Given the description of an element on the screen output the (x, y) to click on. 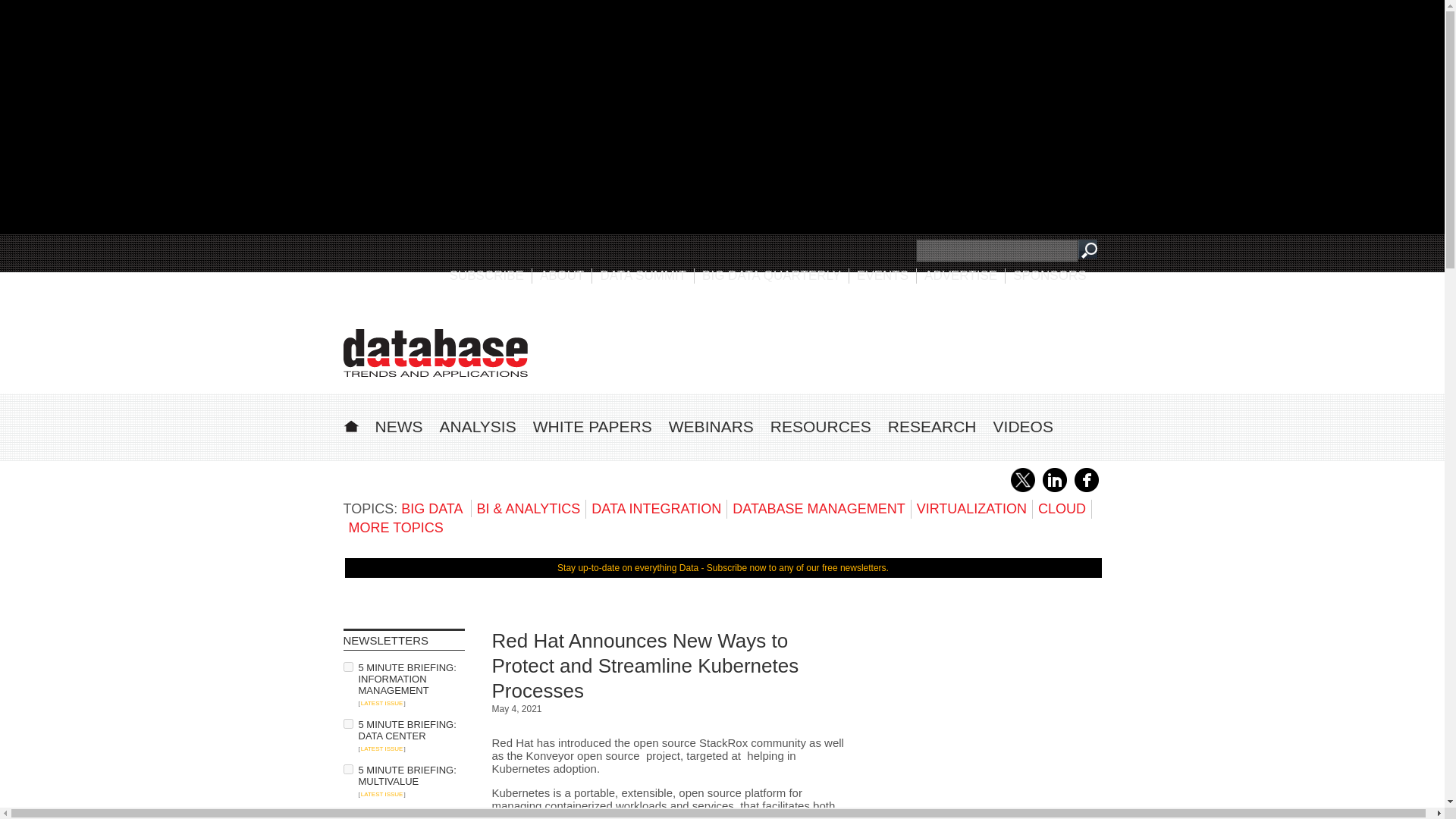
DBTA on LinkedIn (1053, 489)
ADVERTISE (960, 275)
3rd party ad content (986, 723)
Database Trends and Applications Home (350, 424)
WHITE PAPERS (592, 425)
DBTA on Facebook (1085, 489)
BIG DATA QUARTERLY (771, 275)
on (347, 814)
ANALYSIS (477, 425)
on (347, 768)
RESOURCES (820, 425)
DATA SUMMIT (642, 275)
HOME (350, 424)
SUBSCRIBE (486, 275)
